Given the description of an element on the screen output the (x, y) to click on. 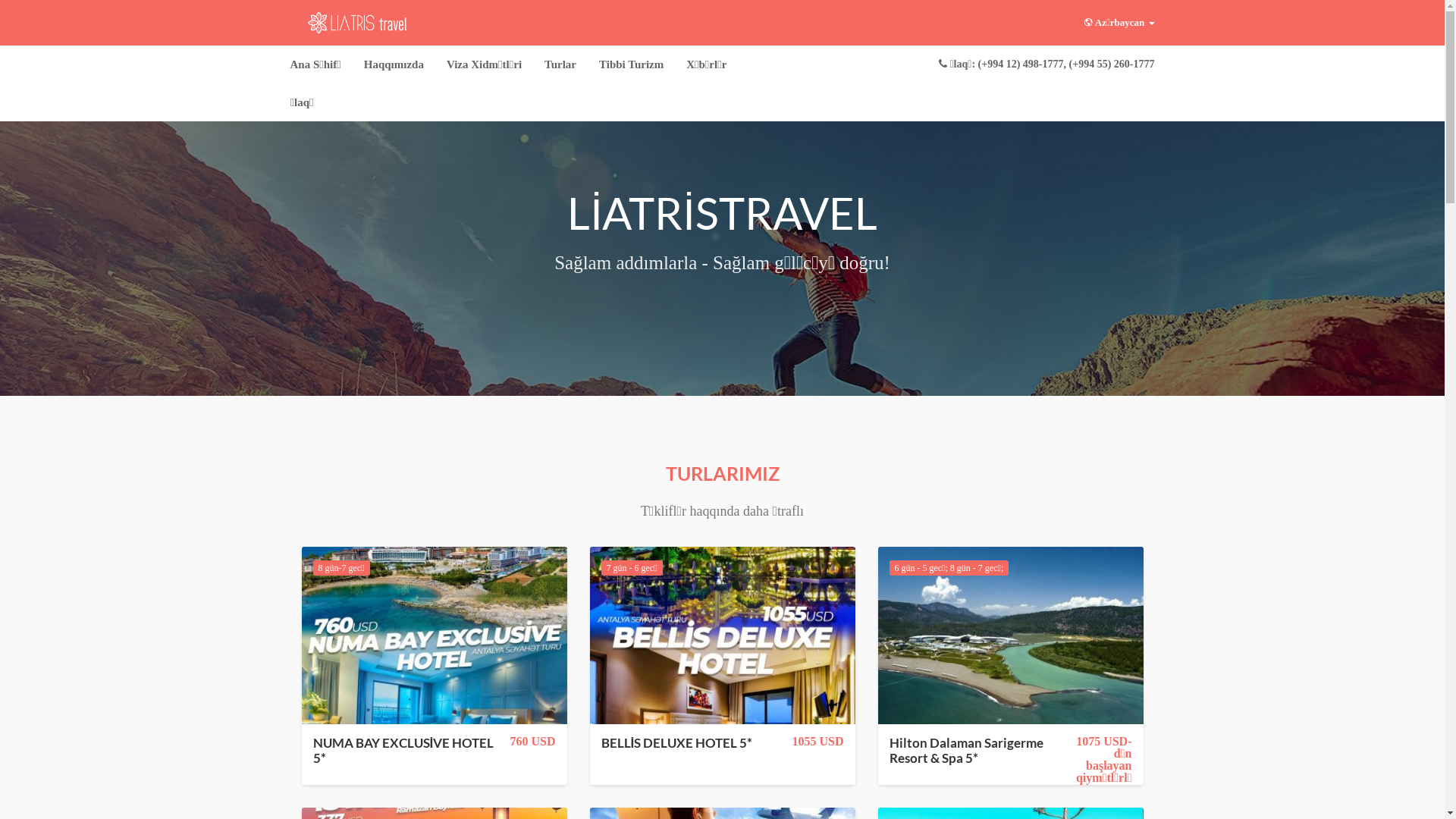
Turlar Element type: text (560, 64)
Tibbi Turizm Element type: text (631, 64)
